Given the description of an element on the screen output the (x, y) to click on. 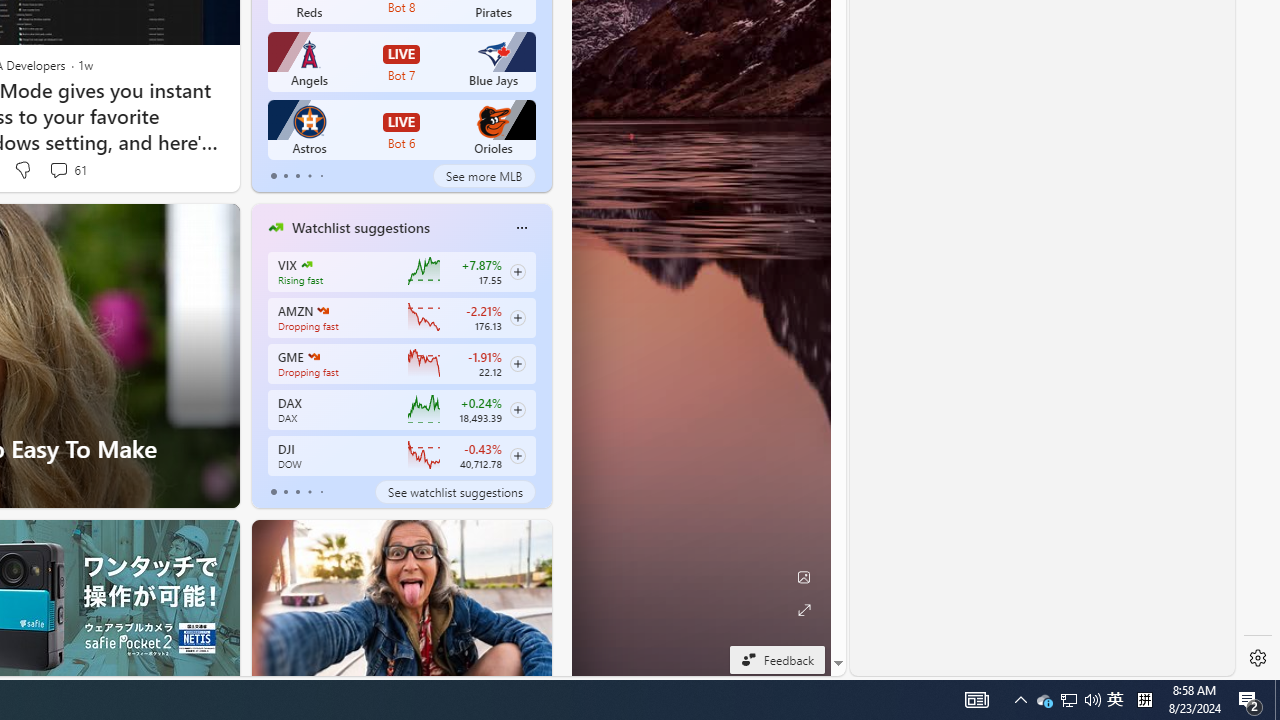
tab-3 (309, 491)
GAMESTOP CORP. (313, 356)
Class: follow-button  m (517, 455)
Class: icon-img (521, 228)
Expand background (803, 610)
Astros LIVE Bot 6 Orioles (401, 129)
tab-1 (285, 491)
tab-4 (320, 491)
